Given the description of an element on the screen output the (x, y) to click on. 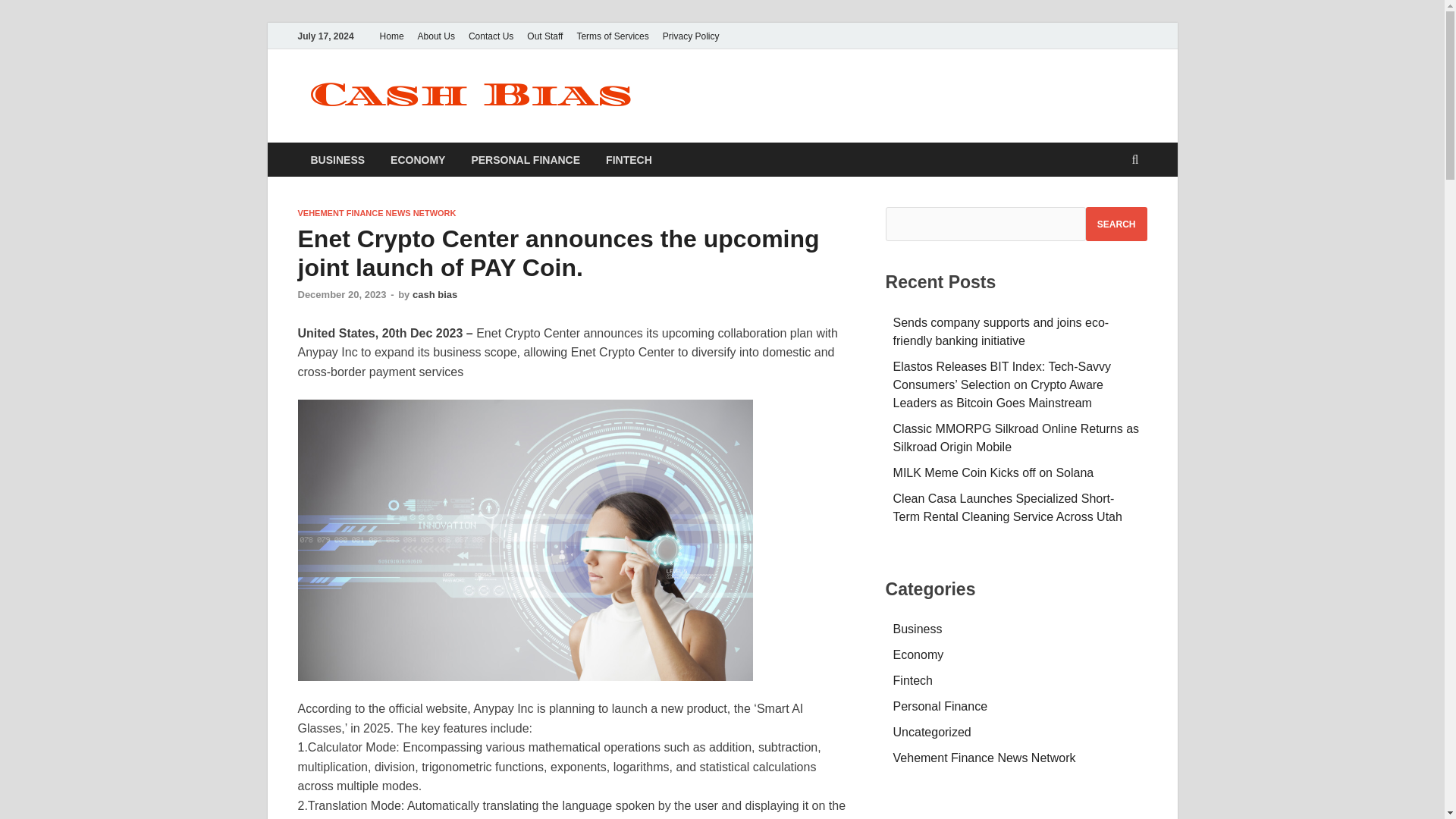
VEHEMENT FINANCE NEWS NETWORK (376, 212)
PERSONAL FINANCE (525, 159)
FINTECH (628, 159)
Contact Us (490, 35)
BUSINESS (337, 159)
Terms of Services (612, 35)
cash bias (434, 294)
Home (391, 35)
December 20, 2023 (341, 294)
About Us (435, 35)
ECONOMY (417, 159)
Out Staff (544, 35)
Privacy Policy (691, 35)
